Given the description of an element on the screen output the (x, y) to click on. 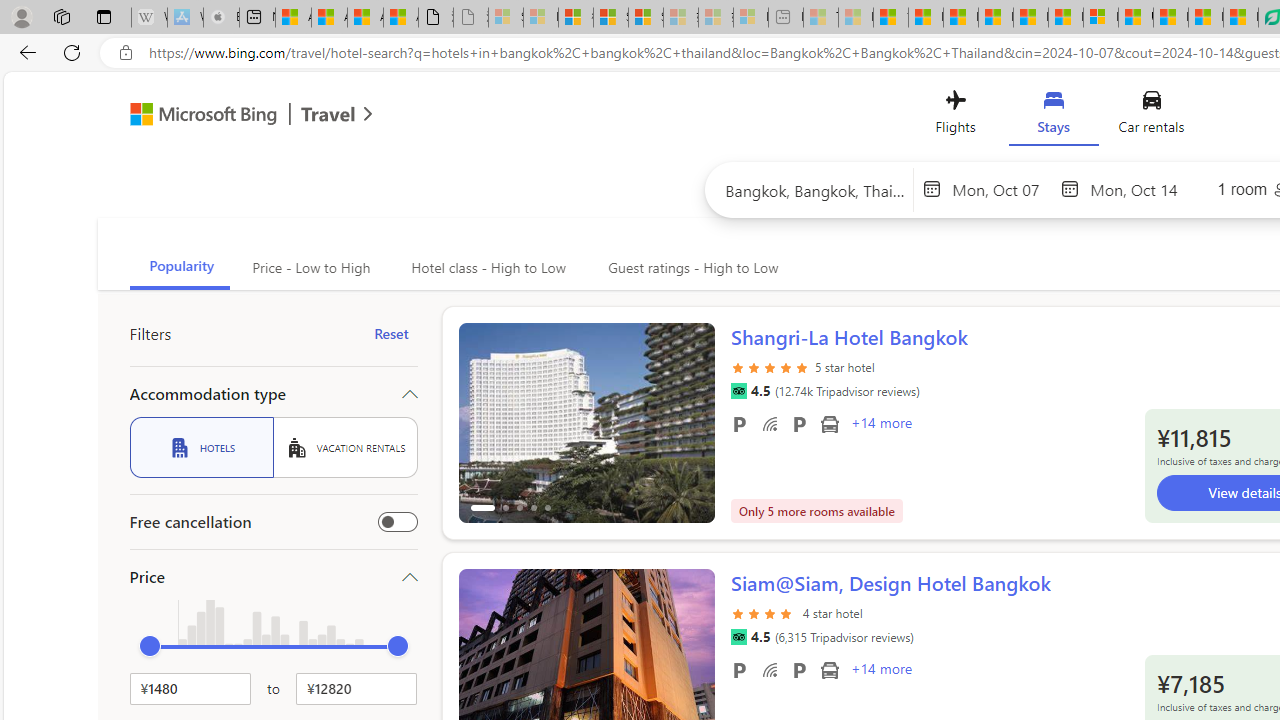
Microsoft Services Agreement - Sleeping (540, 17)
End date (1139, 188)
Foo BAR | Trusted Community Engagement and Contributions (1065, 17)
Aberdeen, Hong Kong SAR severe weather | Microsoft Weather (401, 17)
Wikipedia - Sleeping (149, 17)
Tripadvisor (738, 637)
HOTELS (201, 447)
Slide 1 (586, 434)
Class: msft-travel-logo (328, 114)
Drinking tea every day is proven to delay biological aging (995, 17)
Car rentals (1150, 116)
New tab - Sleeping (785, 17)
star rating (763, 624)
